Given the description of an element on the screen output the (x, y) to click on. 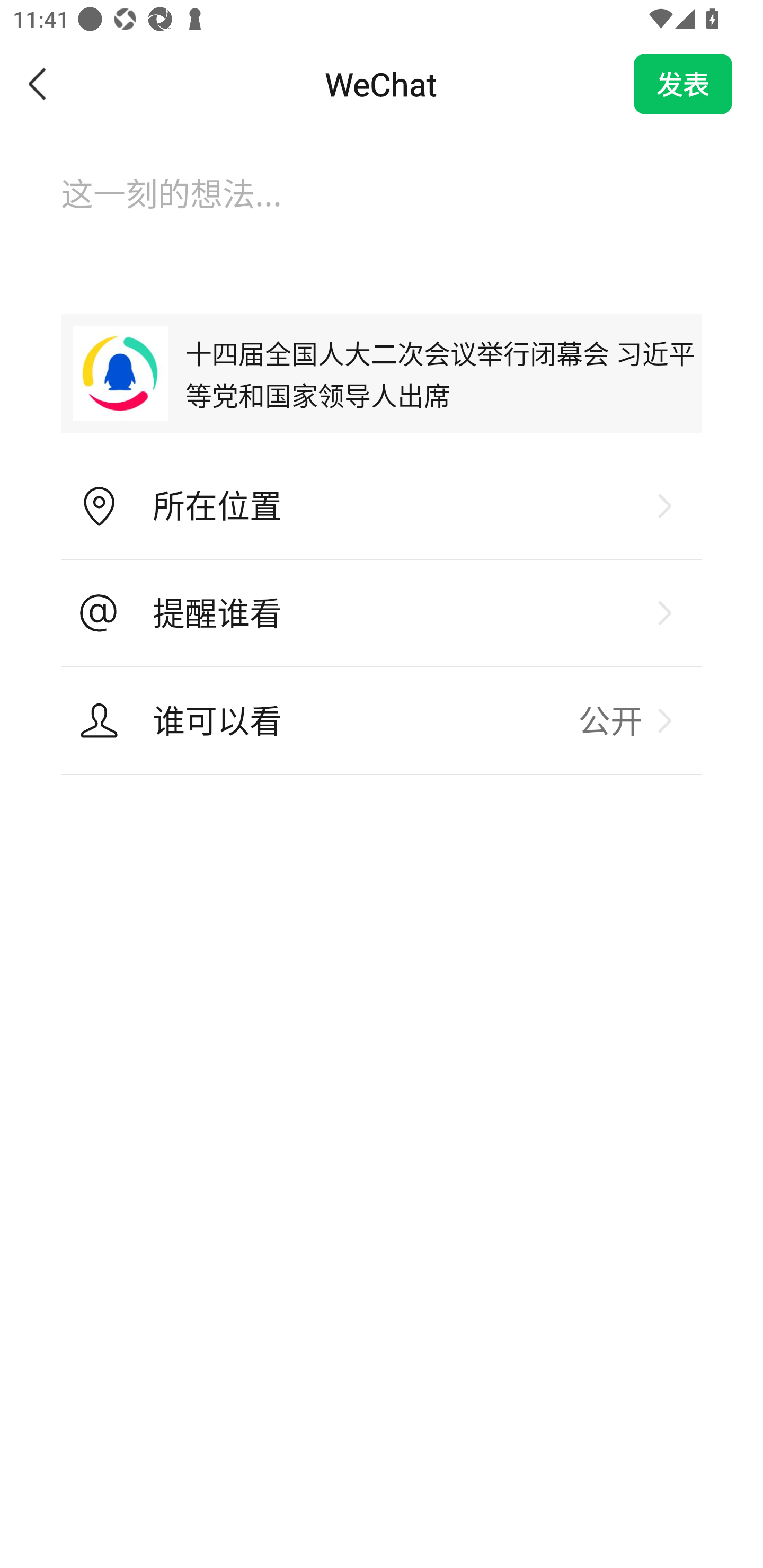
返回 (38, 83)
发表 (683, 83)
这一刻的想法... (381, 211)
十四届全国人大二次会议举行闭幕会 习近平等党和国家领导人出席 (381, 372)
所在位置 (381, 506)
提醒谁看  提醒谁看 (381, 612)
谁可以看 公开 (381, 720)
